Given the description of an element on the screen output the (x, y) to click on. 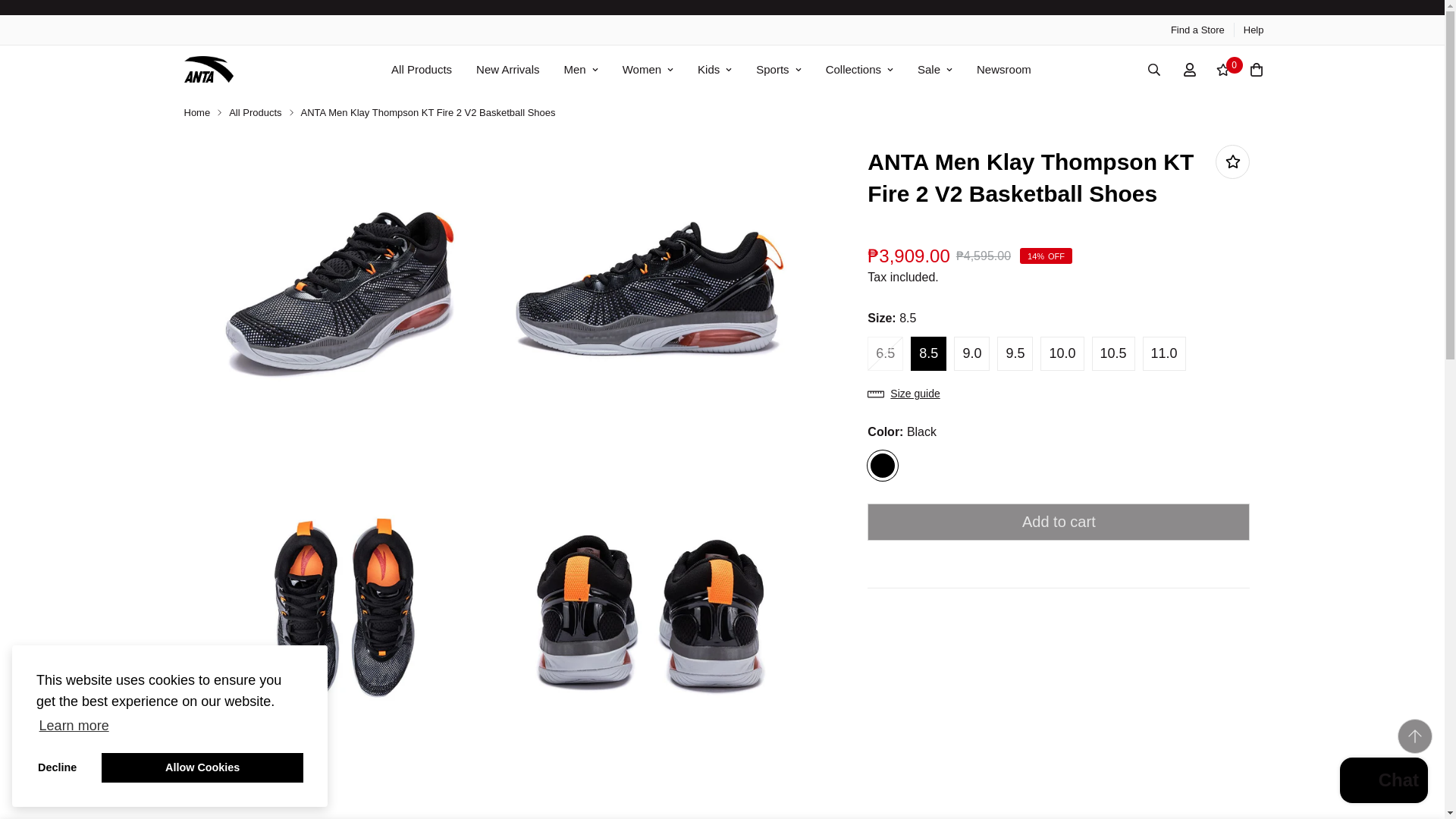
Shopify online store chat (1383, 781)
Women (647, 69)
Decline (57, 767)
Allow Cookies (201, 767)
All Products (421, 69)
Men (580, 69)
